Given the description of an element on the screen output the (x, y) to click on. 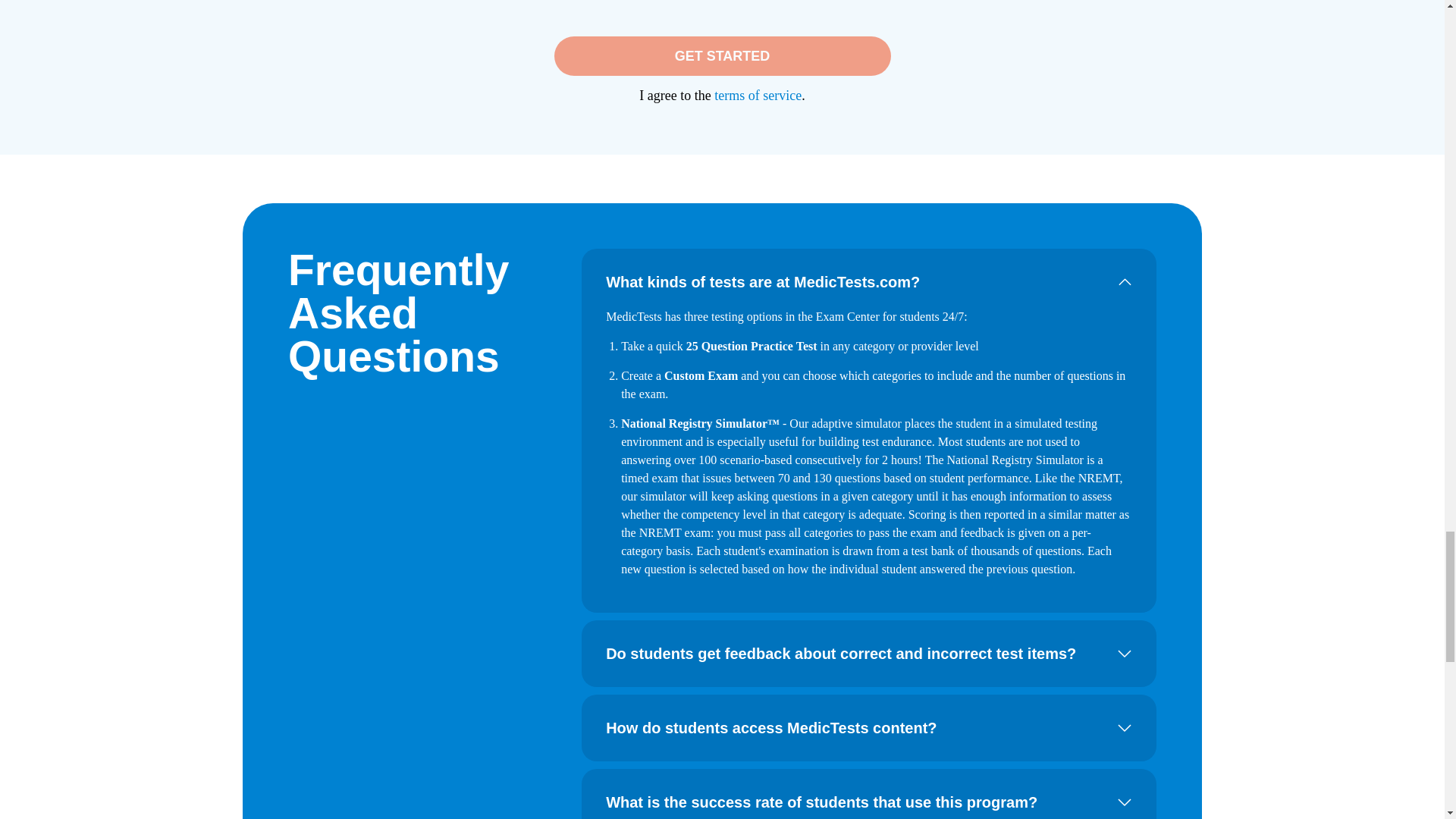
terms of service (758, 95)
How do students access MedicTests content? (868, 728)
GET STARTED (721, 56)
What is the success rate of students that use this program? (868, 801)
What kinds of tests are at MedicTests.com? (868, 281)
GET STARTED (721, 56)
